Given the description of an element on the screen output the (x, y) to click on. 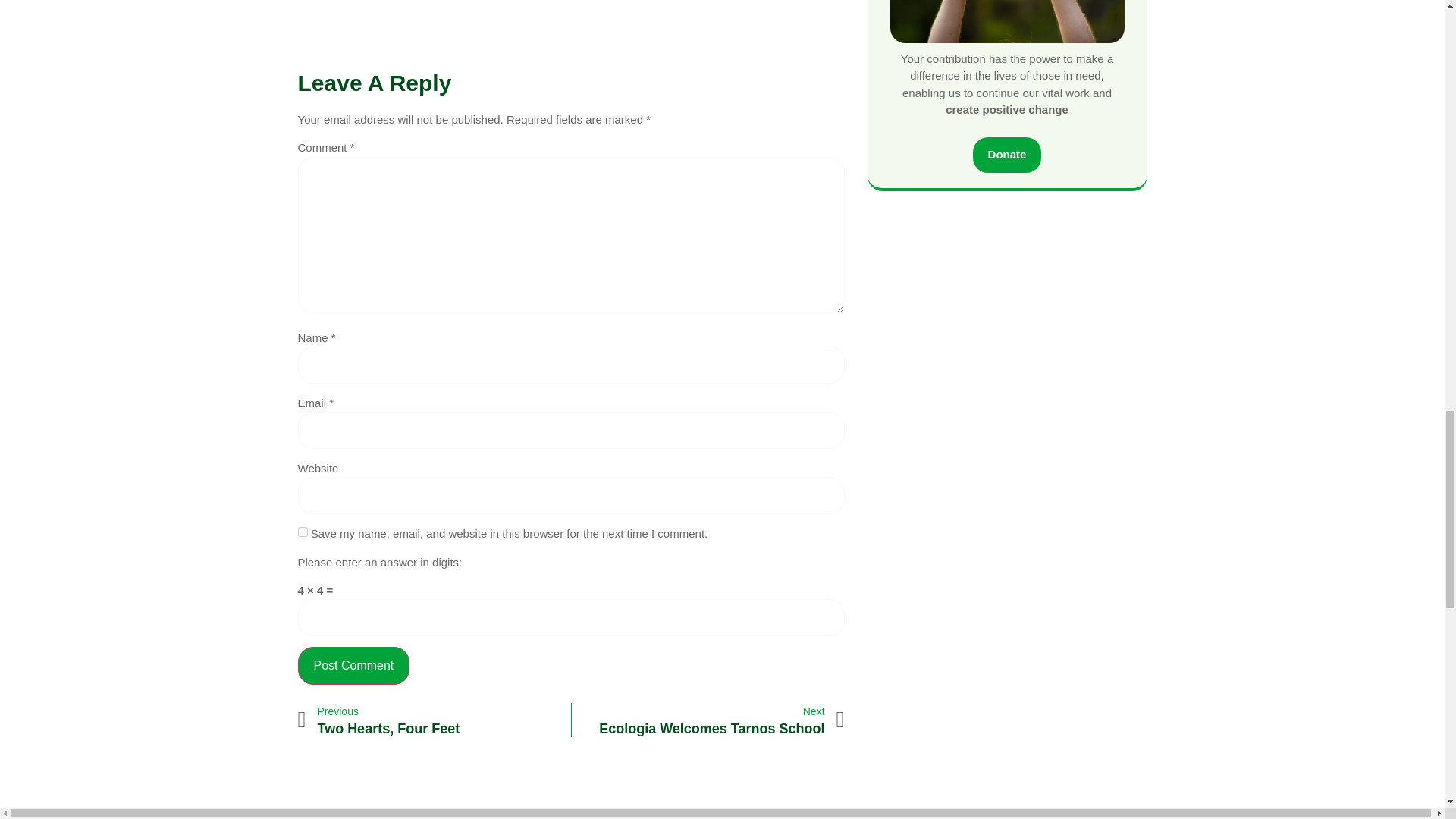
Post Comment (353, 665)
yes (302, 532)
Donate (433, 719)
Post Comment (1007, 154)
